Given the description of an element on the screen output the (x, y) to click on. 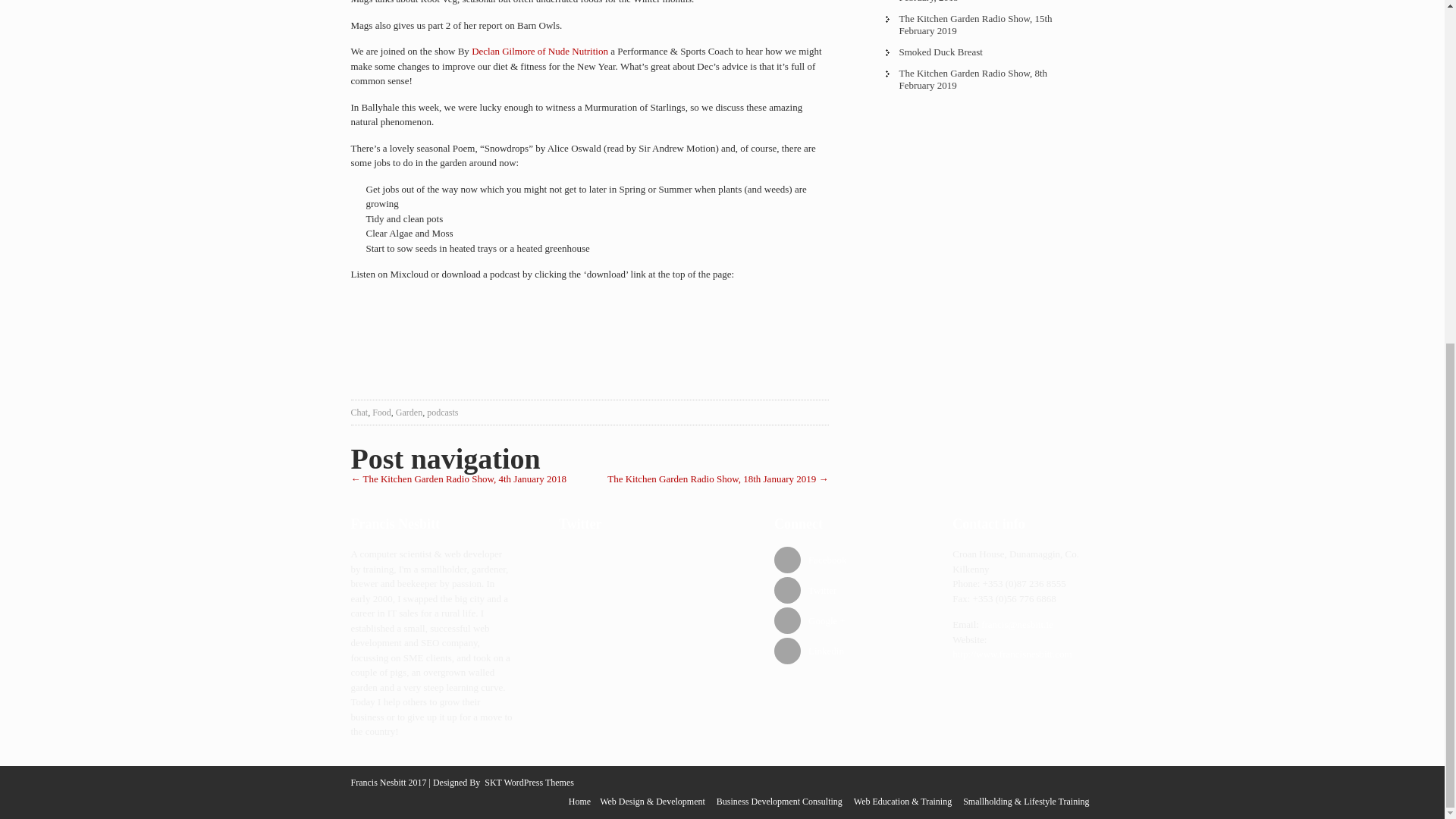
podcasts (442, 412)
The Kitchen Garden Radio Show, 8th February 2019 (984, 79)
Linkedin (840, 651)
Twitter (840, 590)
Google Plus (840, 620)
Food (381, 412)
Smoked Duck Breast (984, 52)
Twitter (840, 590)
Facebook (840, 560)
Garden (409, 412)
